Given the description of an element on the screen output the (x, y) to click on. 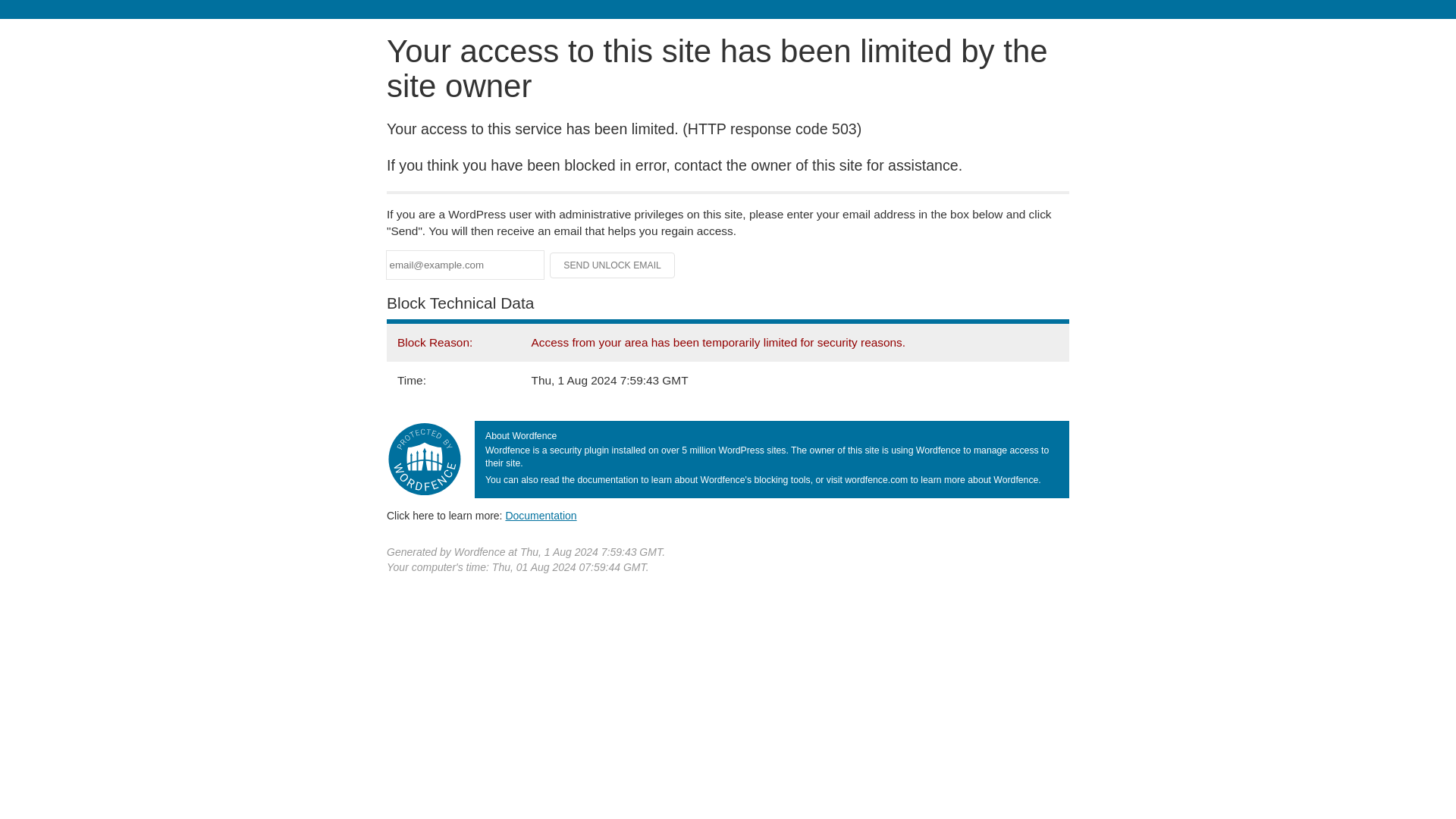
Documentation (540, 515)
Send Unlock Email (612, 265)
Send Unlock Email (612, 265)
